Given the description of an element on the screen output the (x, y) to click on. 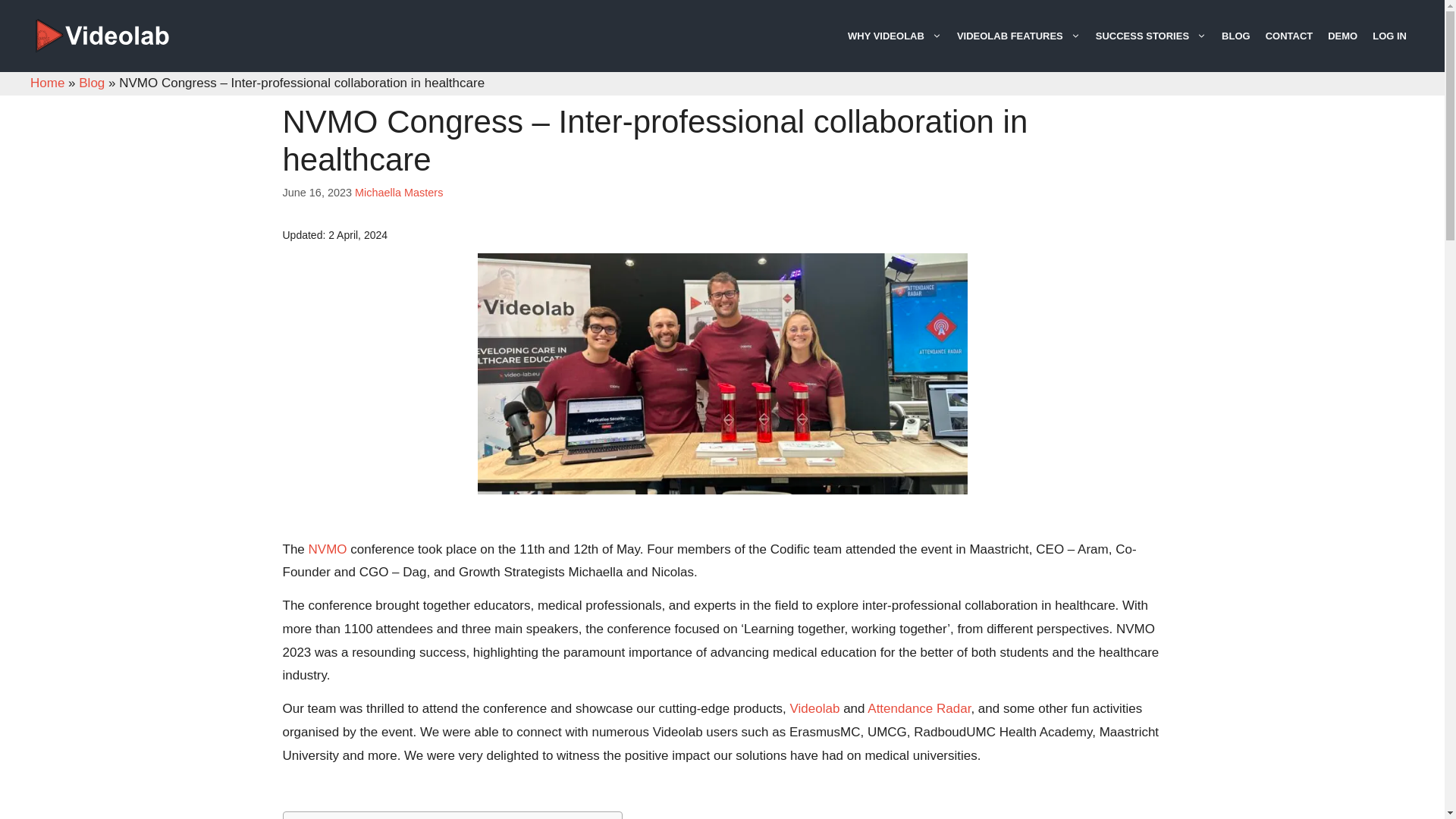
SUCCESS STORIES (1150, 35)
Michaella Masters (398, 192)
BLOG (1235, 35)
CONTACT (1288, 35)
WHY VIDEOLAB (894, 35)
VIDEOLAB FEATURES (1018, 35)
DEMO (1342, 35)
LOG IN (1389, 35)
